Given the description of an element on the screen output the (x, y) to click on. 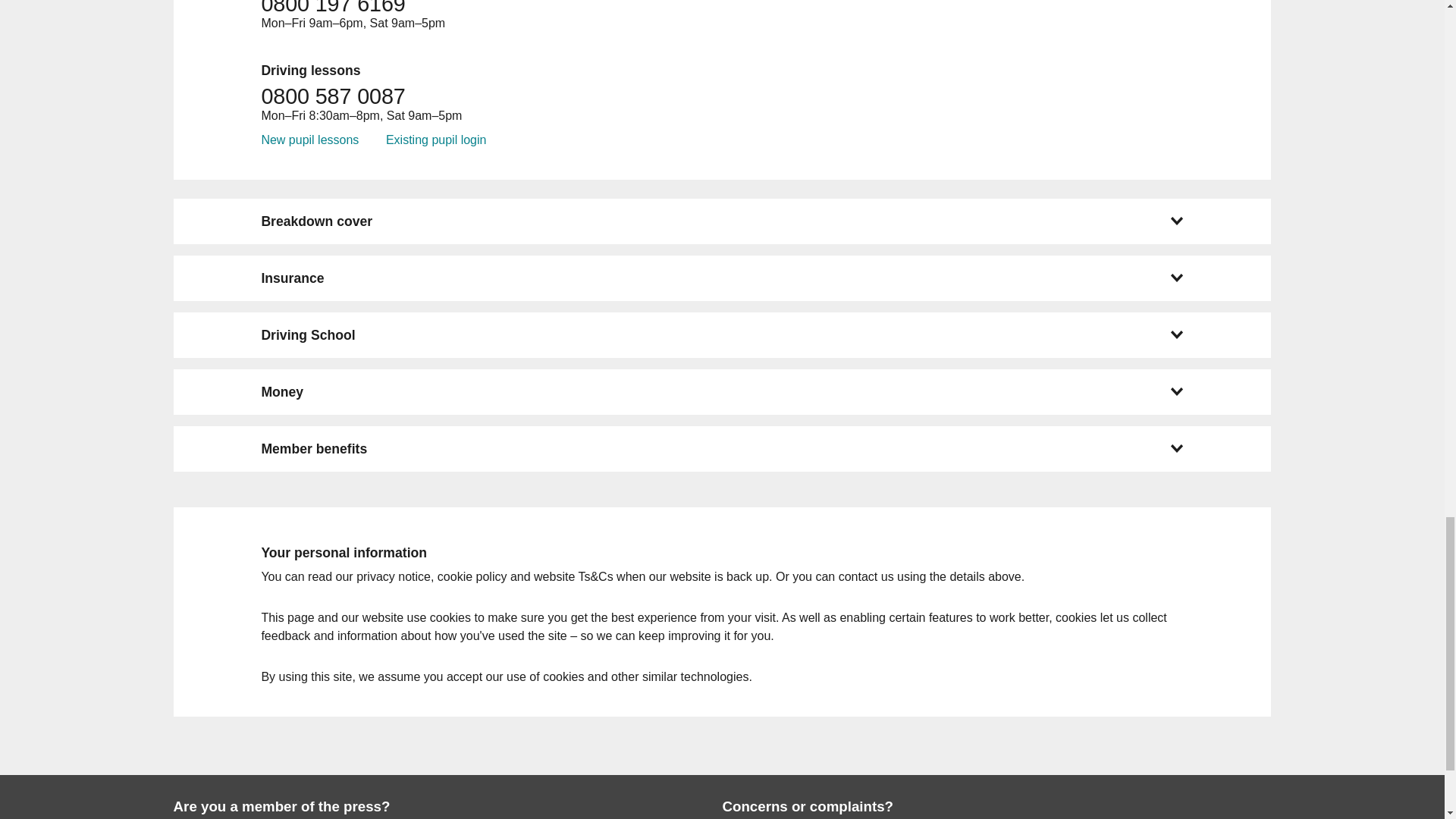
New pupil lessons (309, 140)
Existing pupil login (435, 140)
